Given the description of an element on the screen output the (x, y) to click on. 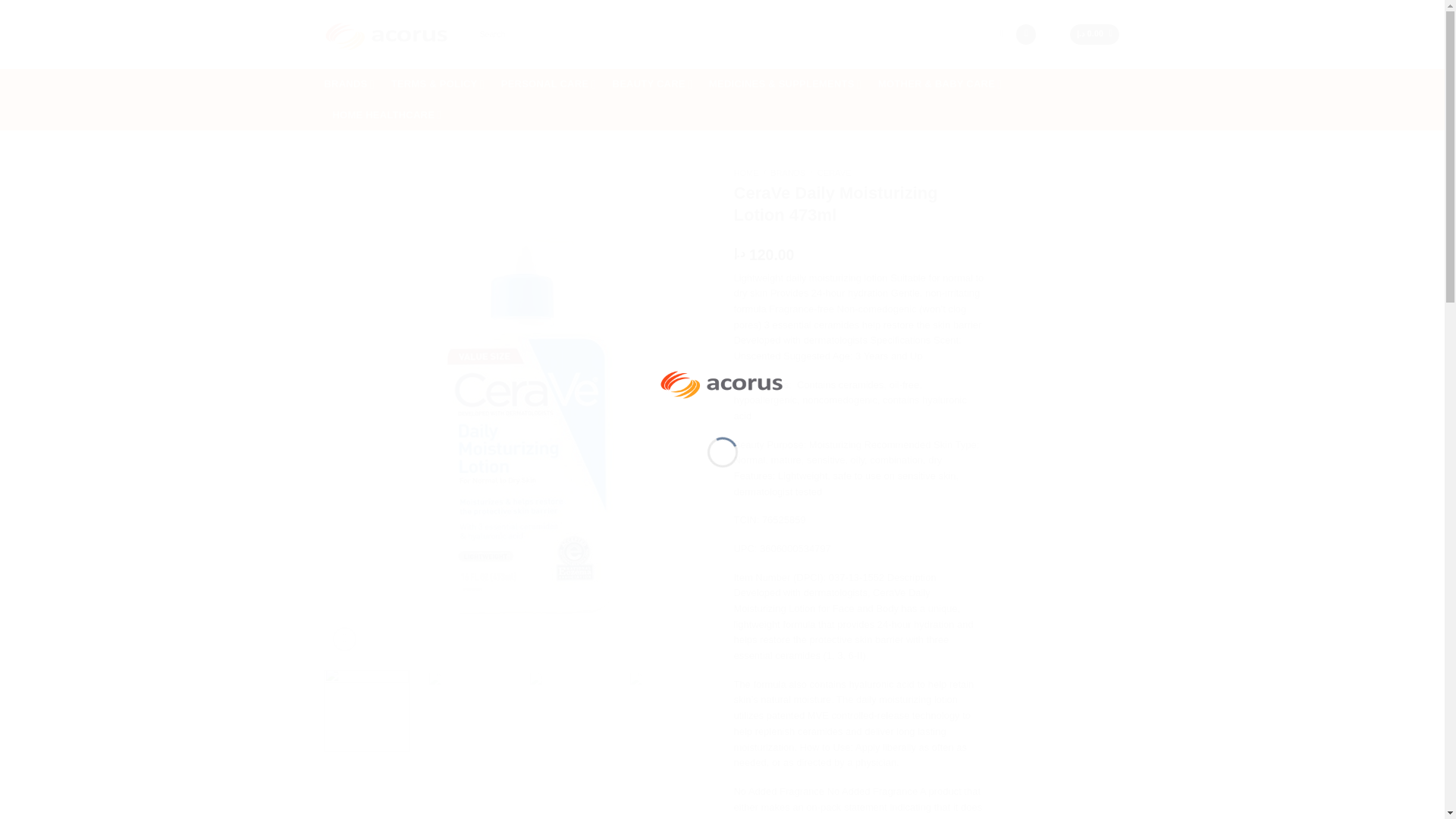
BRANDS (349, 83)
Acorus Pharma (722, 381)
Search (1001, 34)
Cart (1094, 34)
PERSONAL CARE (547, 83)
Acorus Pharma (386, 34)
Zoom (344, 639)
